Given the description of an element on the screen output the (x, y) to click on. 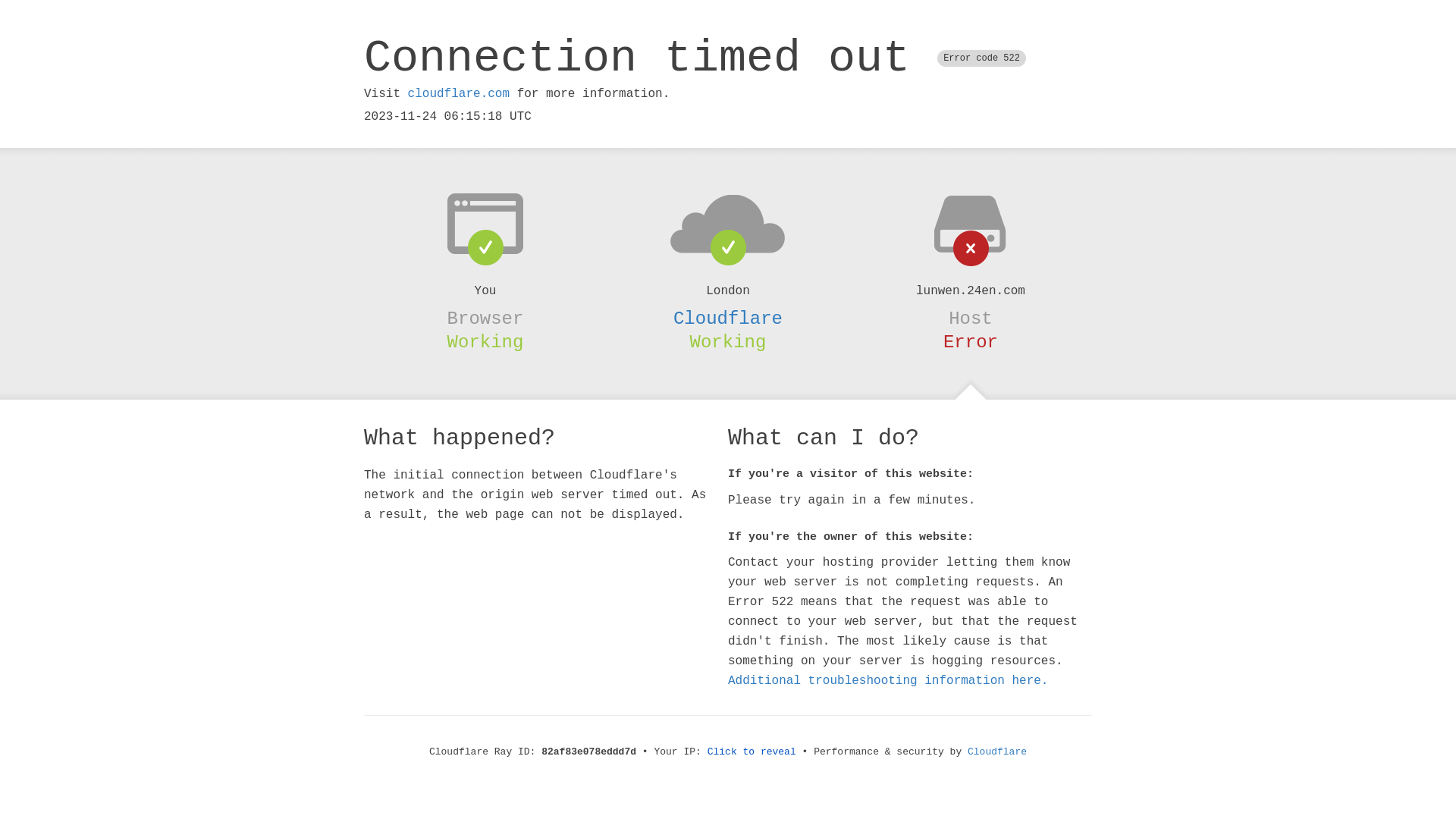
Cloudflare Element type: text (727, 318)
Click to reveal Element type: text (751, 751)
Additional troubleshooting information here. Element type: text (888, 680)
Cloudflare Element type: text (996, 751)
cloudflare.com Element type: text (458, 93)
